Given the description of an element on the screen output the (x, y) to click on. 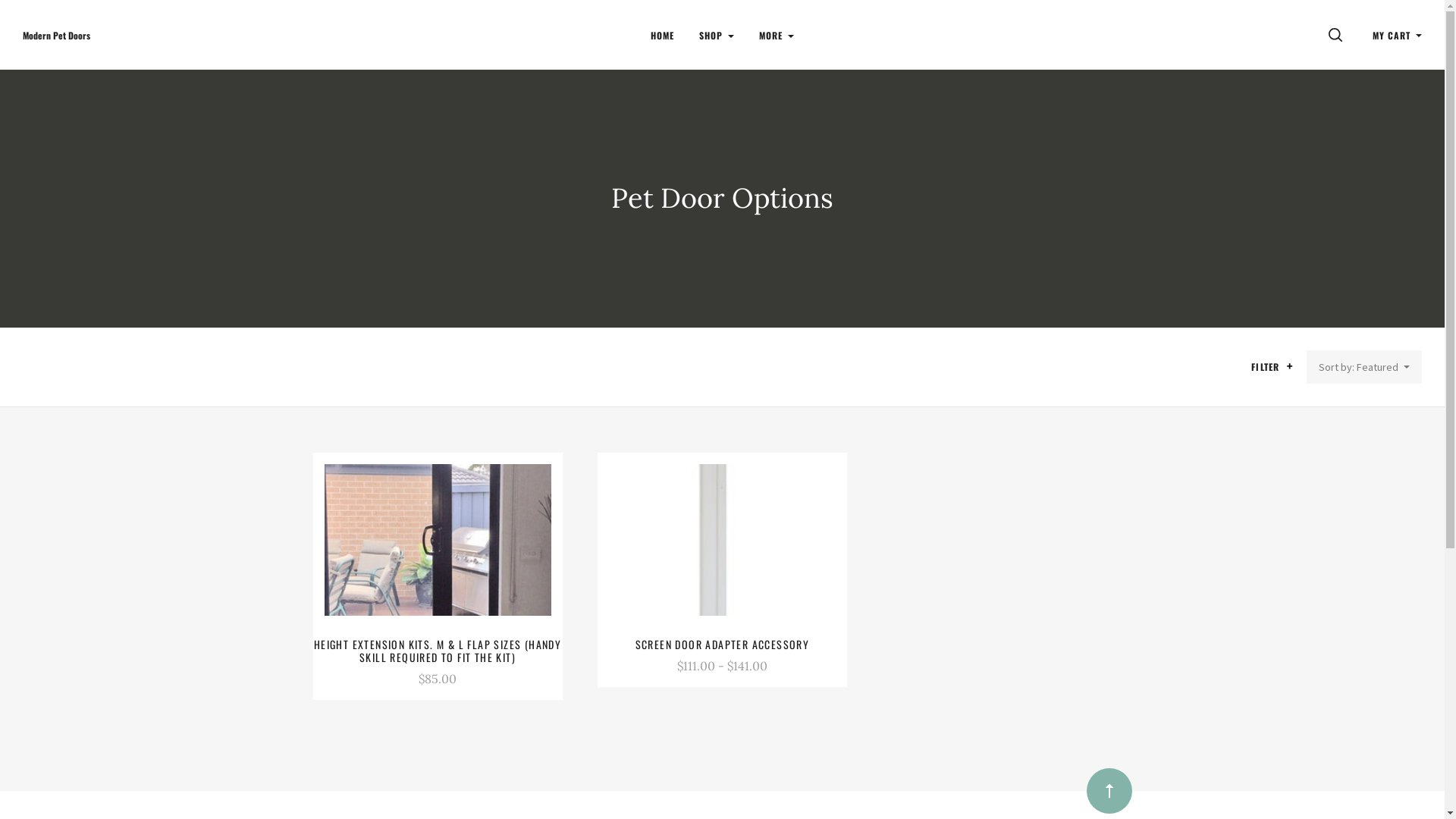
SHOP Element type: text (716, 34)
FILTER Element type: text (1273, 367)
SCREEN DOOR ADAPTER ACCESSORY Element type: text (722, 644)
SEARCH Element type: text (1337, 34)
MY CART Element type: text (1396, 34)
HOME Element type: text (662, 34)
Modern Pet Doors Element type: text (56, 35)
Screen Door Adapter Accessory Element type: hover (721, 539)
MORE Element type: text (776, 34)
